Given the description of an element on the screen output the (x, y) to click on. 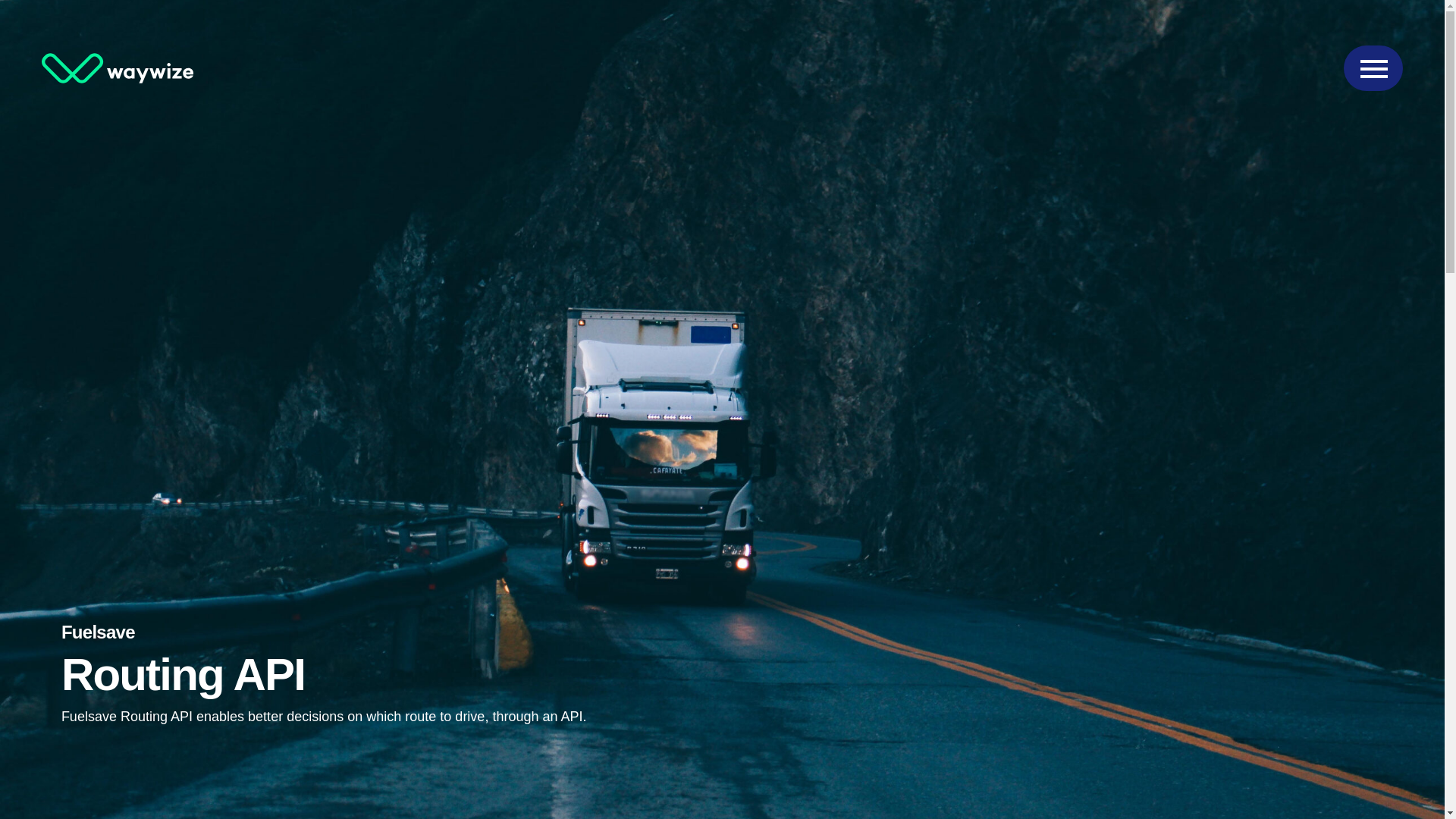
Waywize (117, 68)
